Given the description of an element on the screen output the (x, y) to click on. 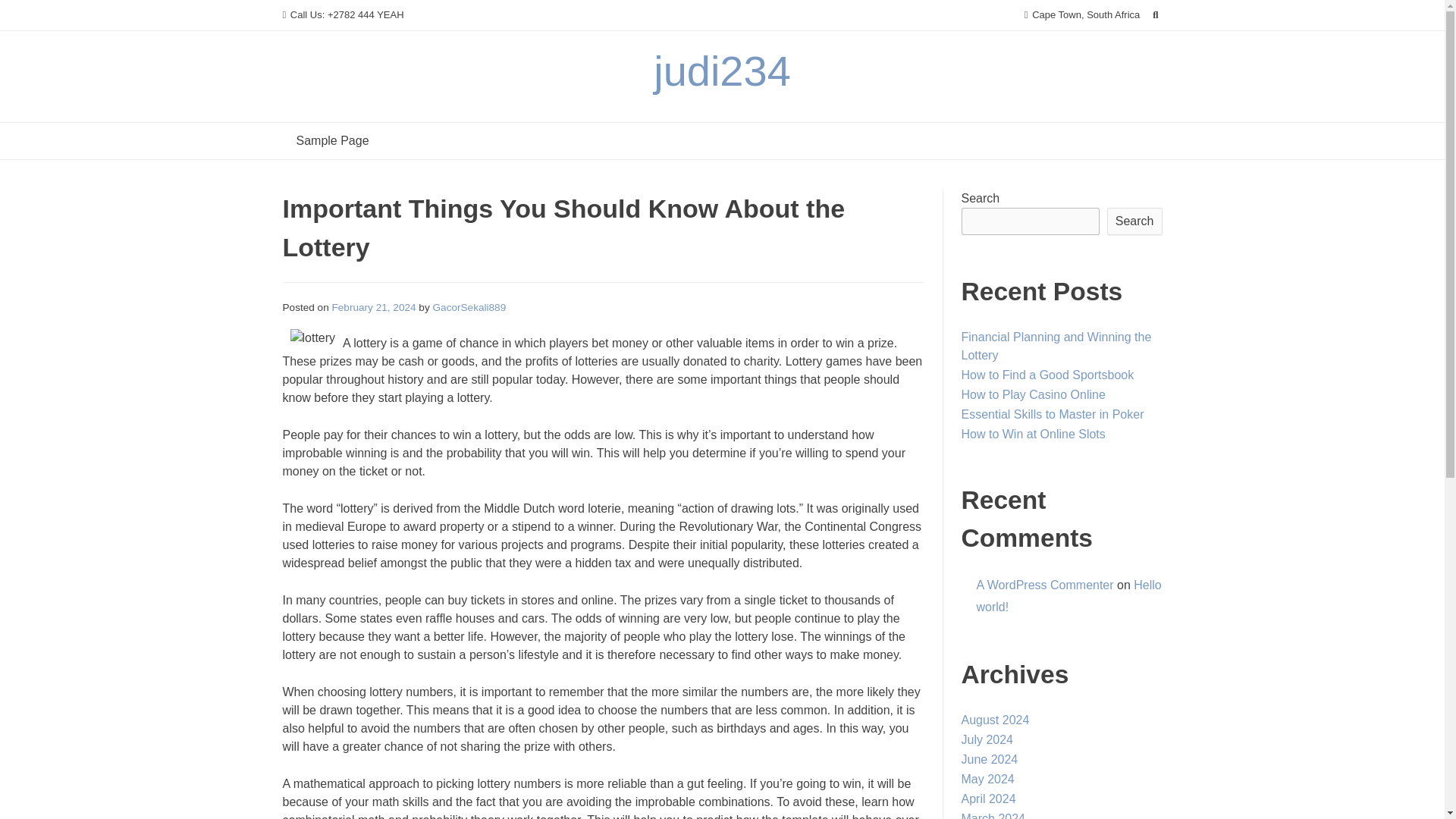
judi234 (721, 70)
Financial Planning and Winning the Lottery (1055, 345)
March 2024 (993, 815)
GacorSekali889 (469, 307)
April 2024 (988, 798)
July 2024 (986, 739)
June 2024 (988, 758)
How to Play Casino Online (1032, 394)
August 2024 (994, 719)
How to Win at Online Slots (1032, 433)
